Given the description of an element on the screen output the (x, y) to click on. 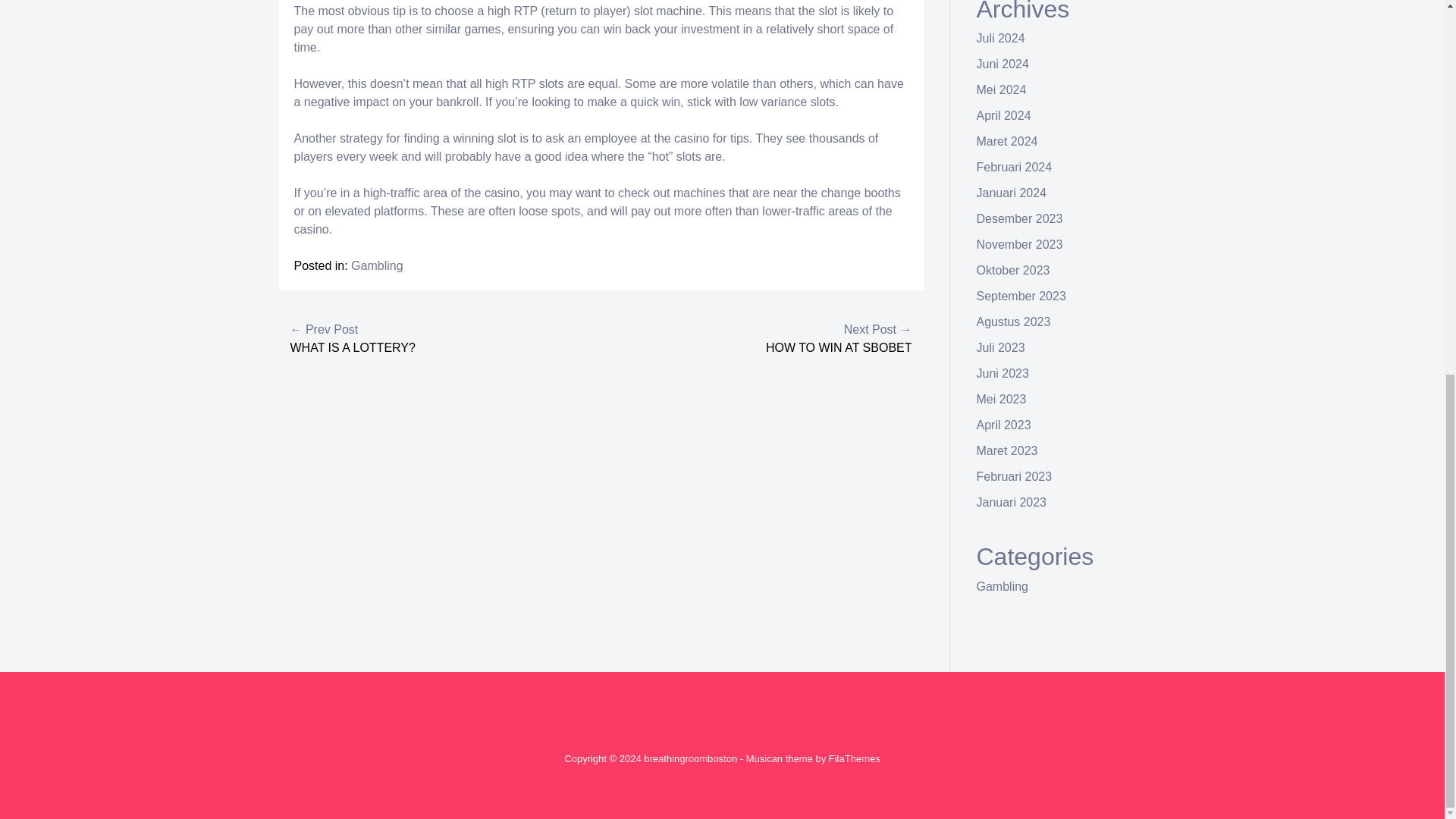
breathingroomboston (689, 758)
Juli 2024 (1000, 38)
Juni 2024 (1002, 63)
Gambling (376, 265)
